Given the description of an element on the screen output the (x, y) to click on. 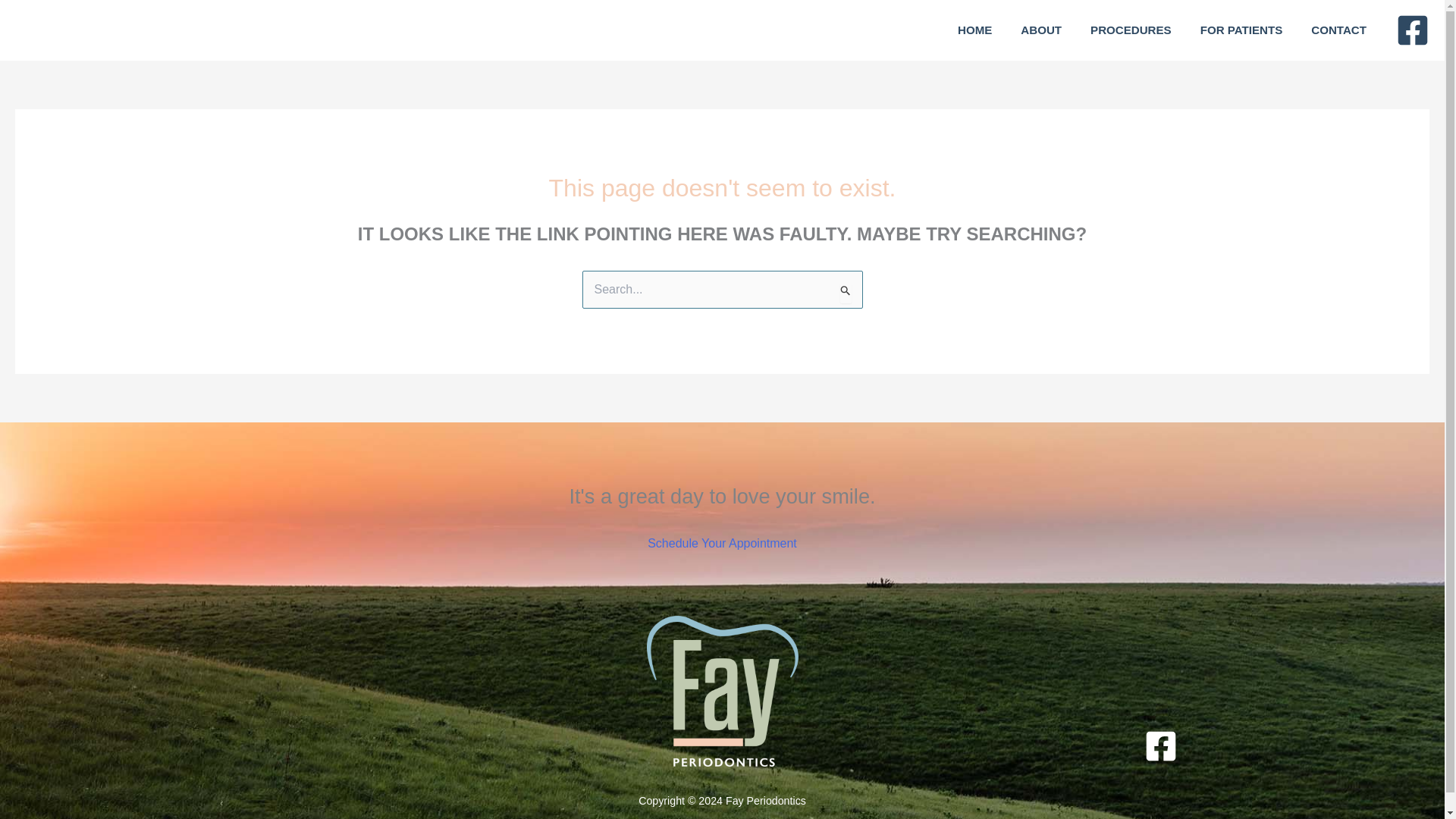
FOR PATIENTS (1241, 29)
ABOUT (1040, 29)
HOME (975, 29)
Schedule Your Appointment (721, 542)
PROCEDURES (1131, 29)
CONTACT (1338, 29)
